Given the description of an element on the screen output the (x, y) to click on. 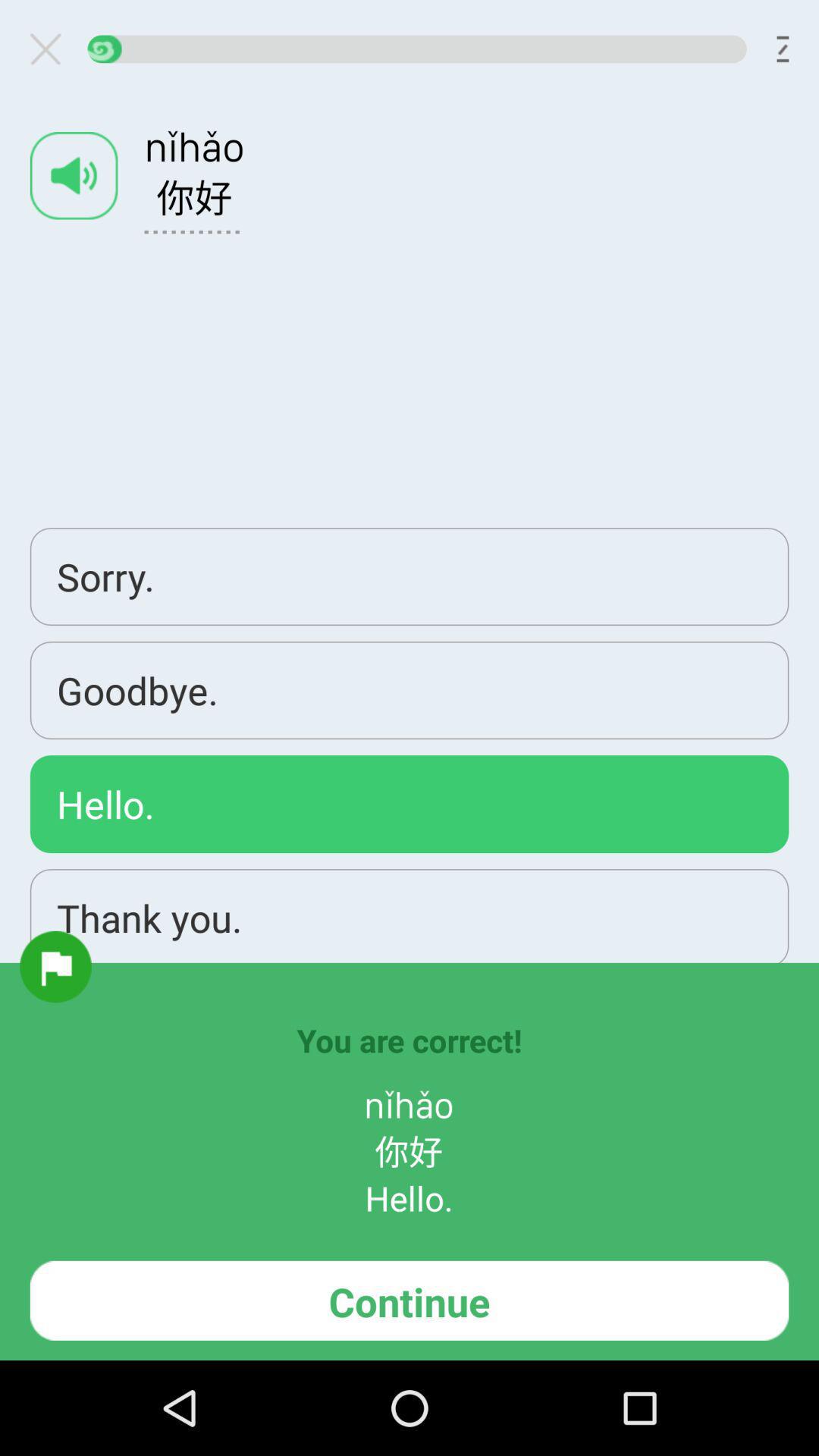
go to close (51, 49)
